Given the description of an element on the screen output the (x, y) to click on. 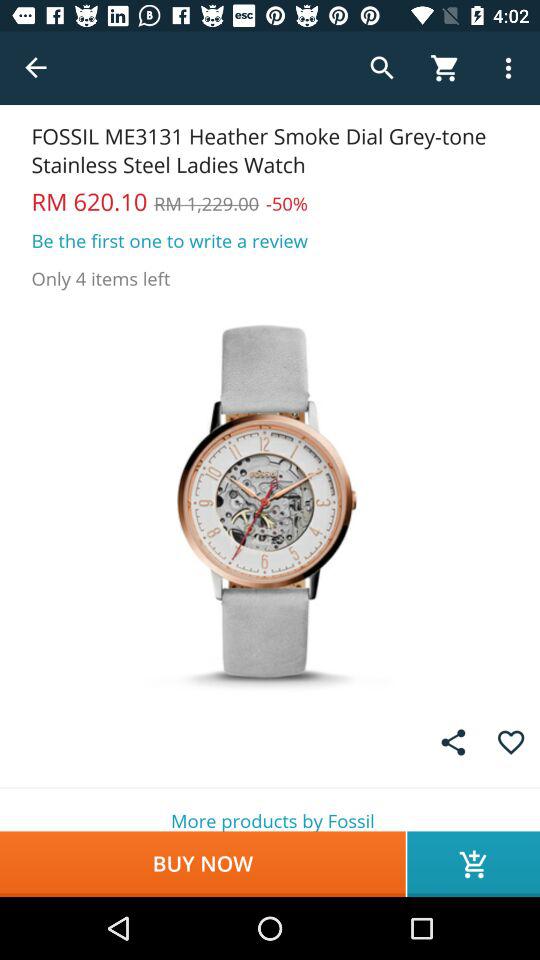
the button is used to add the item to favorites (510, 742)
